Given the description of an element on the screen output the (x, y) to click on. 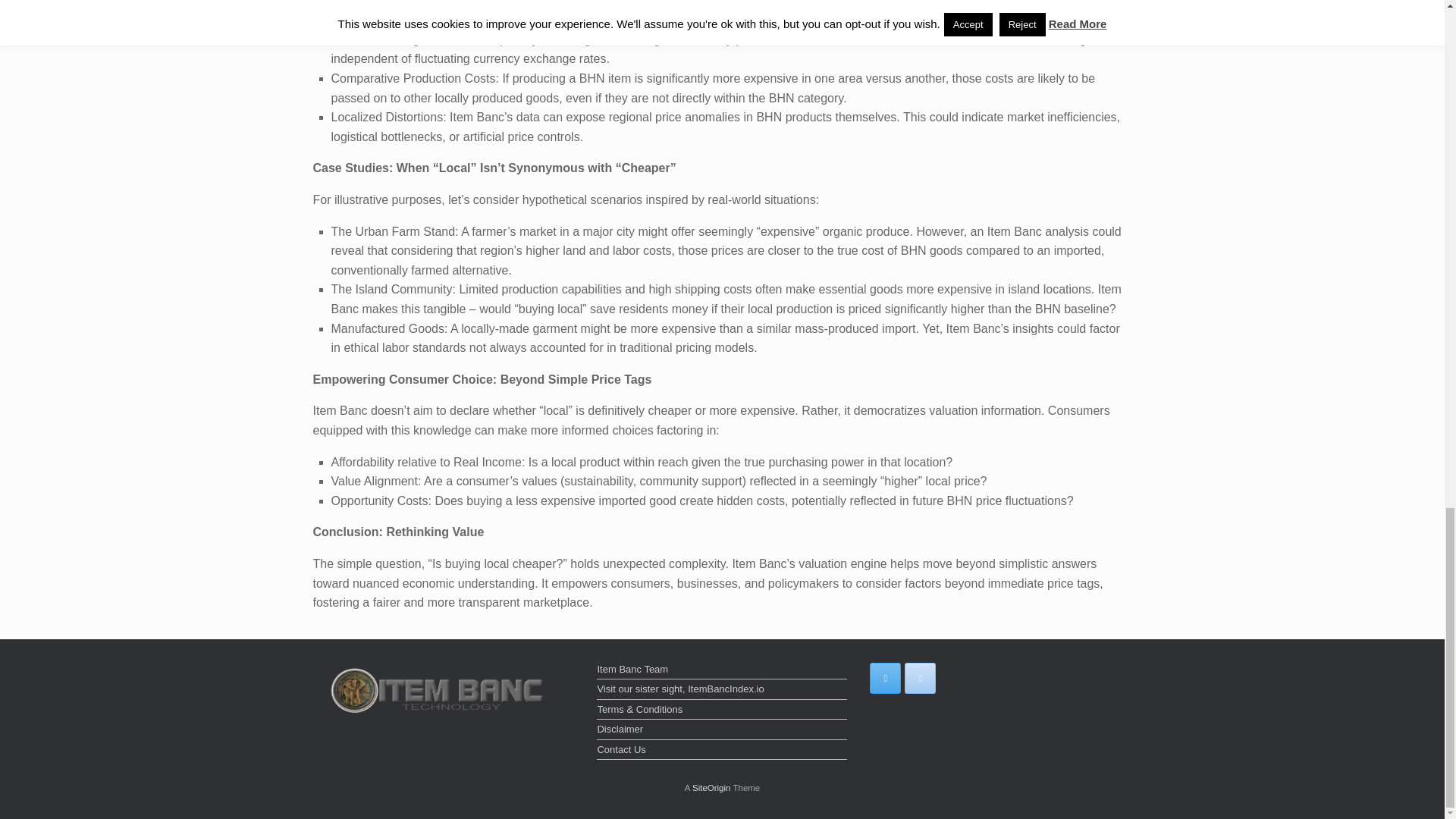
Telegram (954, 677)
Item Banc Team (721, 670)
Contact Us (721, 751)
ItemBanc on Reddit (920, 677)
ItemBanc on Twitter (885, 677)
Disclaimer (721, 730)
SiteOrigin (711, 787)
Visit our sister sight, ItemBancIndex.io (721, 690)
